Given the description of an element on the screen output the (x, y) to click on. 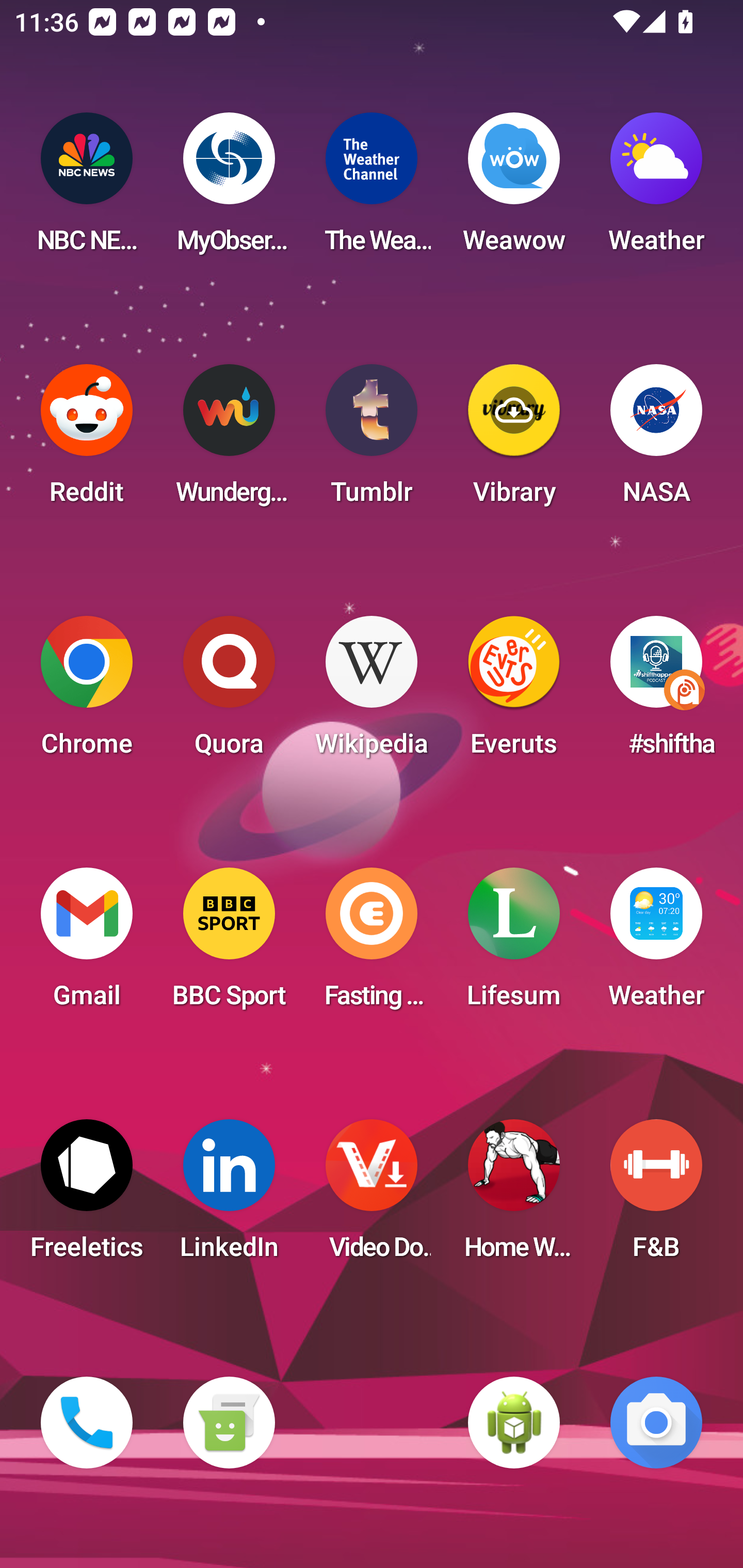
NBC NEWS (86, 188)
MyObservatory (228, 188)
The Weather Channel (371, 188)
Weawow (513, 188)
Weather (656, 188)
Reddit (86, 440)
Wunderground (228, 440)
Tumblr (371, 440)
Vibrary (513, 440)
NASA (656, 440)
Chrome (86, 692)
Quora (228, 692)
Wikipedia (371, 692)
Everuts (513, 692)
#shifthappens in the Digital Workplace Podcast (656, 692)
Gmail (86, 943)
BBC Sport (228, 943)
Fasting Coach (371, 943)
Lifesum (513, 943)
Weather (656, 943)
Freeletics (86, 1195)
LinkedIn (228, 1195)
Video Downloader & Ace Player (371, 1195)
Home Workout (513, 1195)
F&B (656, 1195)
Phone (86, 1422)
Messaging (228, 1422)
WebView Browser Tester (513, 1422)
Camera (656, 1422)
